Given the description of an element on the screen output the (x, y) to click on. 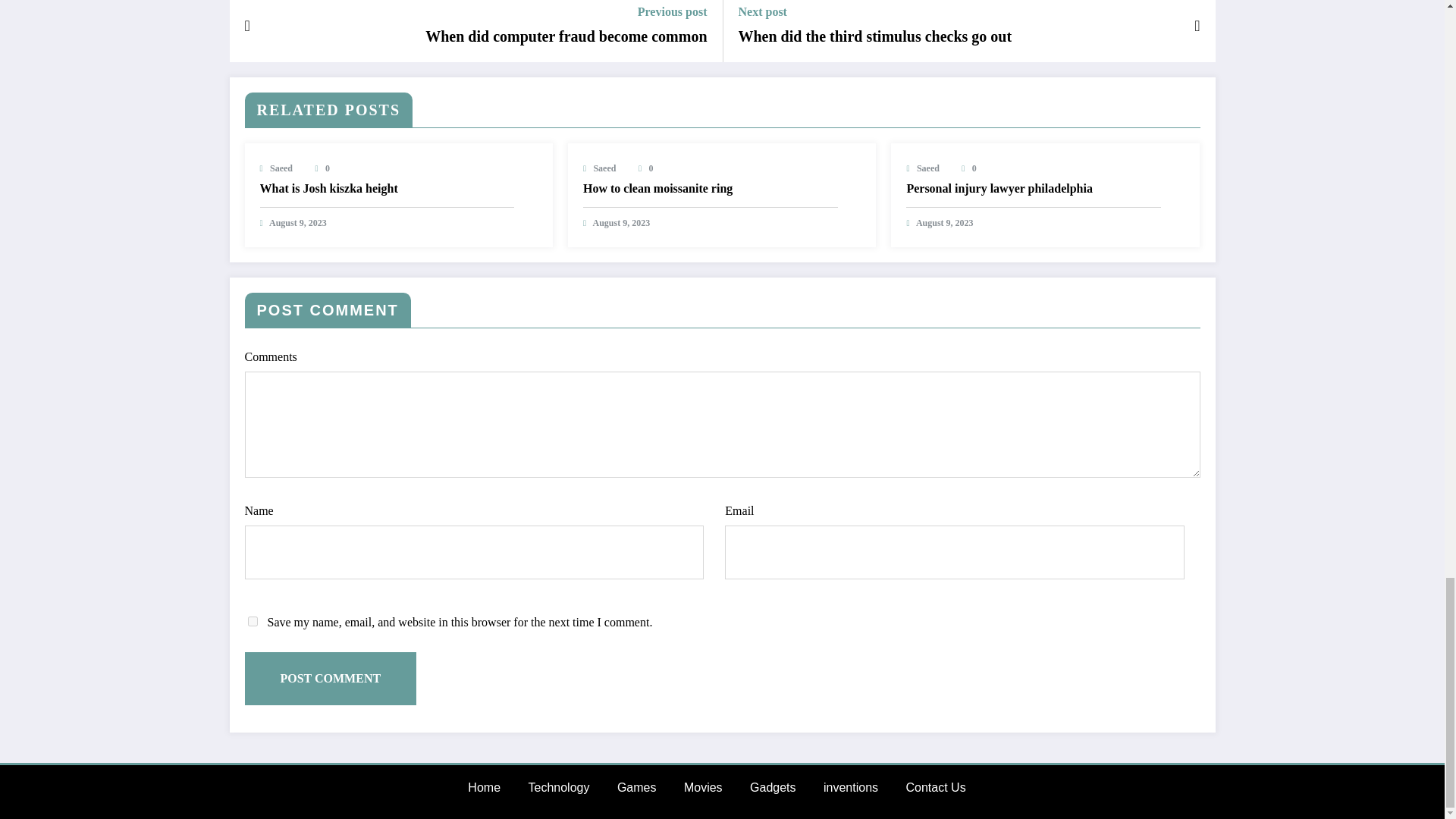
yes (252, 621)
Next post (874, 11)
When did computer fraud become common (565, 35)
When did the third stimulus checks go out (874, 35)
Previous post (565, 11)
Post Comment (330, 678)
